Given the description of an element on the screen output the (x, y) to click on. 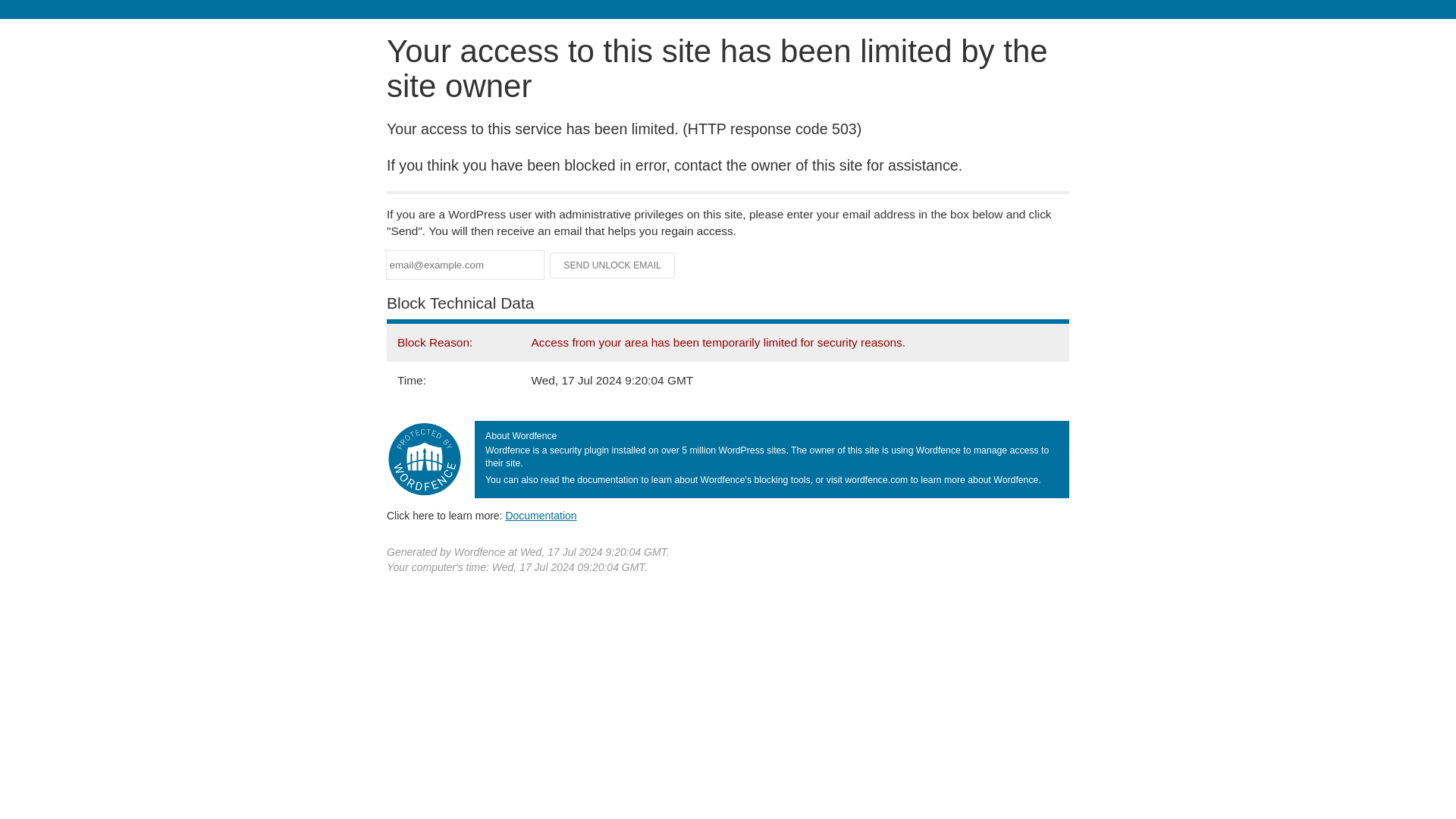
Send Unlock Email (612, 265)
Documentation (540, 515)
Send Unlock Email (612, 265)
